Given the description of an element on the screen output the (x, y) to click on. 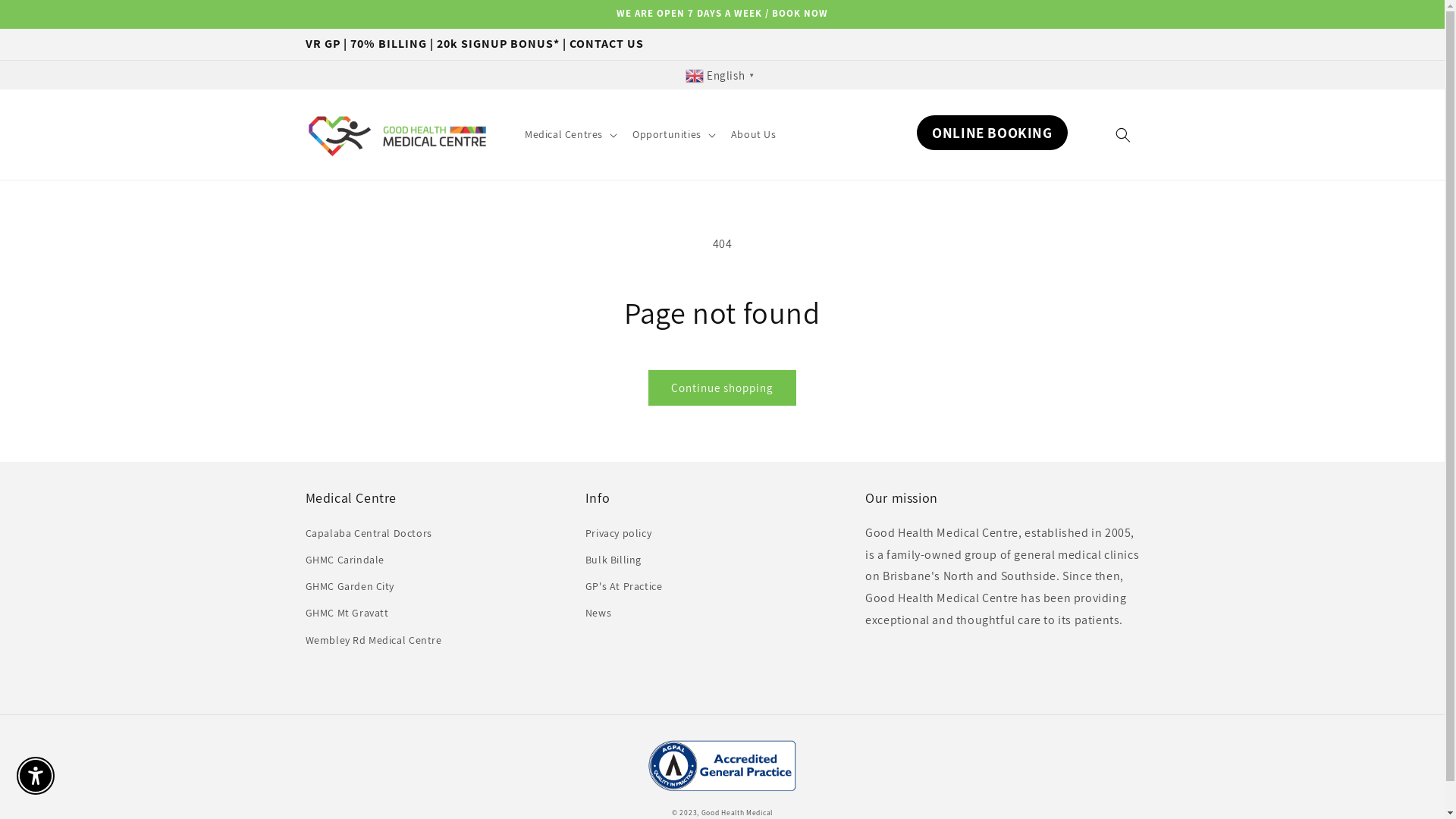
VR GP | 70% BILLING | 20k SIGNUP BONUS* | CONTACT US Element type: text (722, 43)
About Us Element type: text (753, 134)
GHMC Garden City Element type: text (349, 586)
Capalaba Central Doctors Element type: text (367, 535)
Wembley Rd Medical Centre Element type: text (372, 640)
News Element type: text (598, 612)
GHMC Mt Gravatt Element type: text (346, 612)
GHMC Carindale Element type: text (343, 559)
WE ARE OPEN 7 DAYS A WEEK / BOOK NOW Element type: text (722, 14)
Continue shopping Element type: text (722, 387)
Bulk Billing Element type: text (613, 559)
Enable accessibility Element type: text (35, 775)
Privacy policy Element type: text (618, 535)
ONLINE BOOKING Element type: text (991, 132)
Good Health Medical Element type: text (736, 812)
GP's At Practice Element type: text (623, 586)
